Given the description of an element on the screen output the (x, y) to click on. 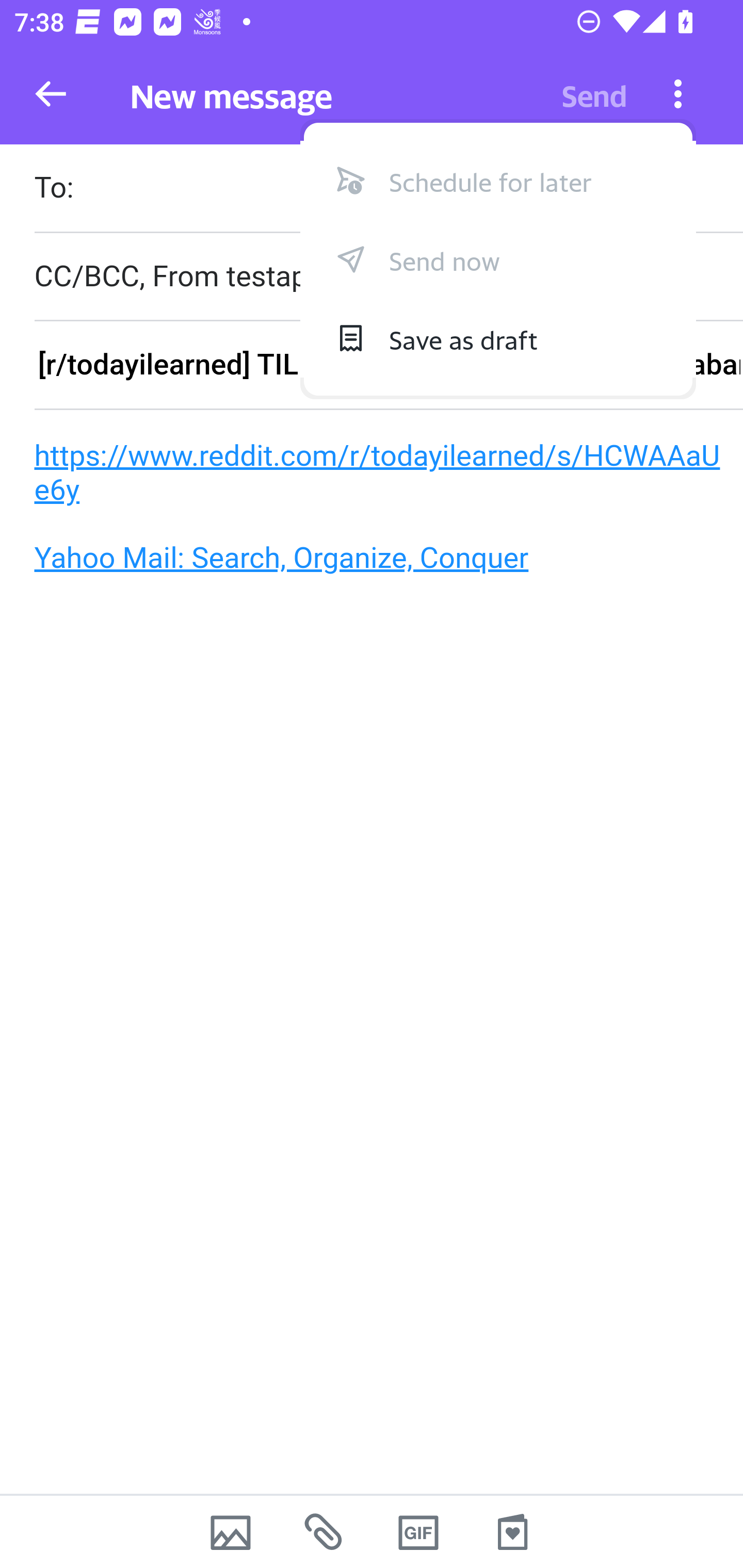
Schedule for later (498, 180)
Send now (498, 258)
Save as draft (498, 337)
